Given the description of an element on the screen output the (x, y) to click on. 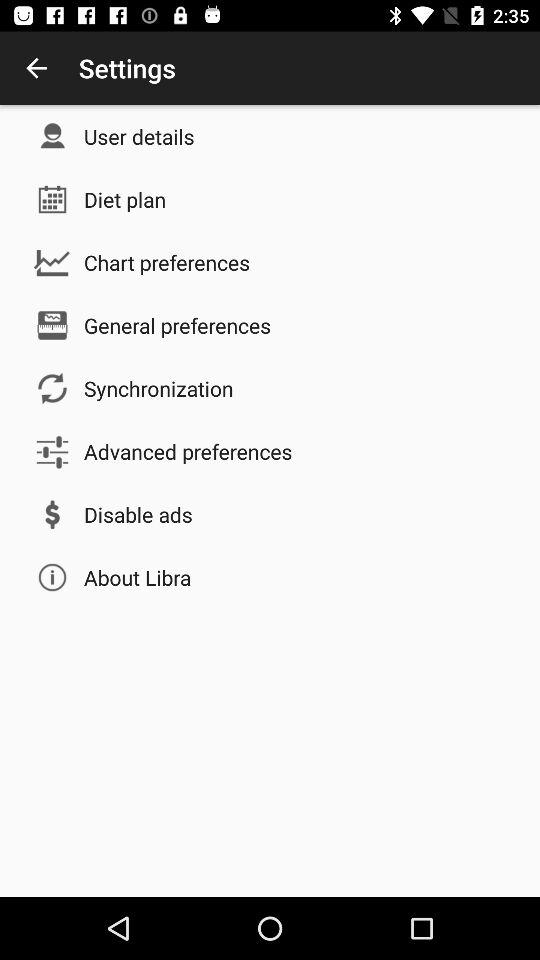
press app below the chart preferences icon (177, 325)
